Given the description of an element on the screen output the (x, y) to click on. 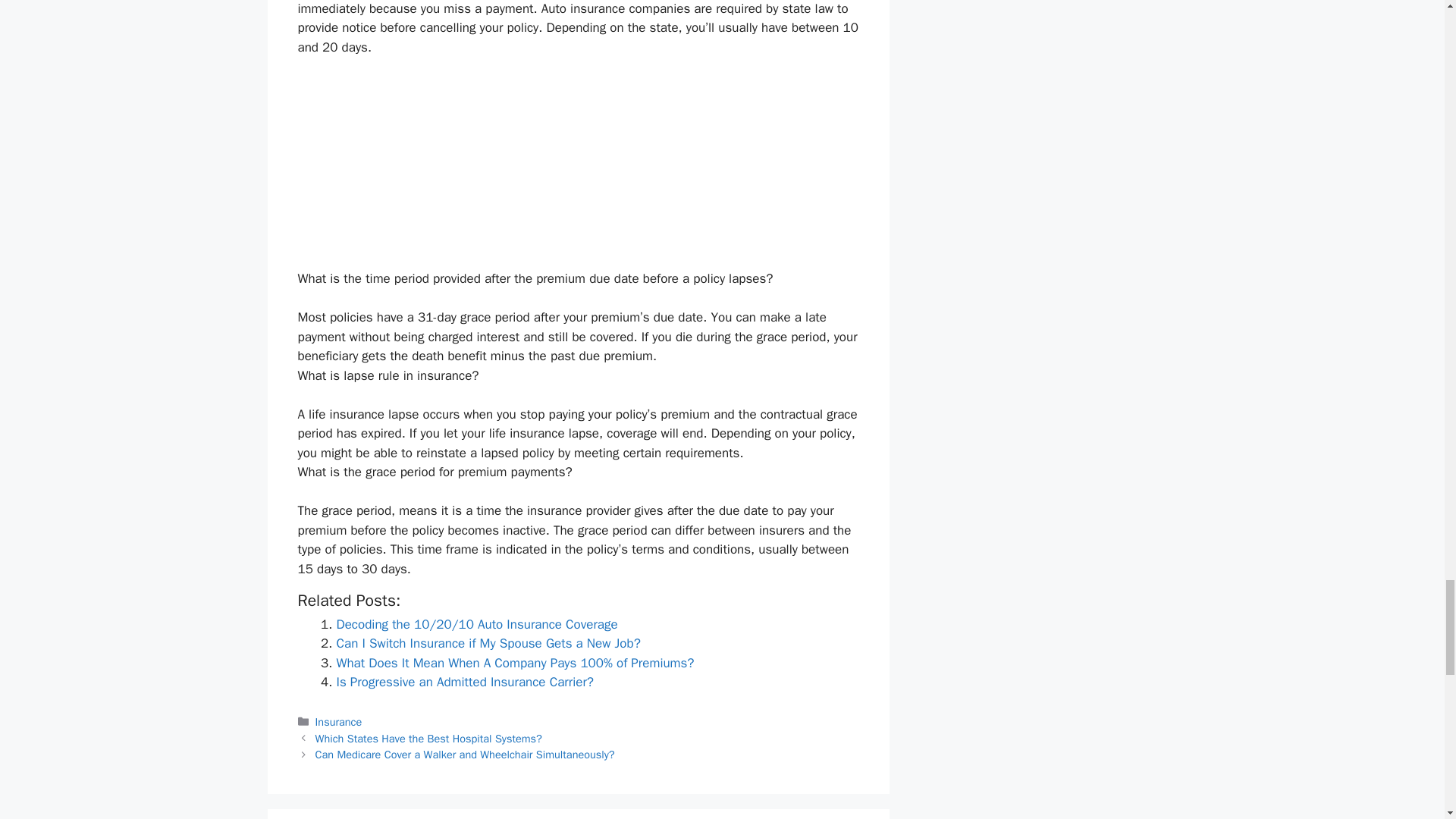
Previous (428, 737)
Can I Switch Insurance if My Spouse Gets a New Job? (488, 643)
Insurance (338, 721)
Is Progressive an Admitted Insurance Carrier? (465, 682)
Can I Switch Insurance if My Spouse Gets a New Job? (488, 643)
Is Progressive an Admitted Insurance Carrier? (465, 682)
Which States Have the Best Hospital Systems? (428, 737)
Can Medicare Cover a Walker and Wheelchair Simultaneously? (464, 754)
